Given the description of an element on the screen output the (x, y) to click on. 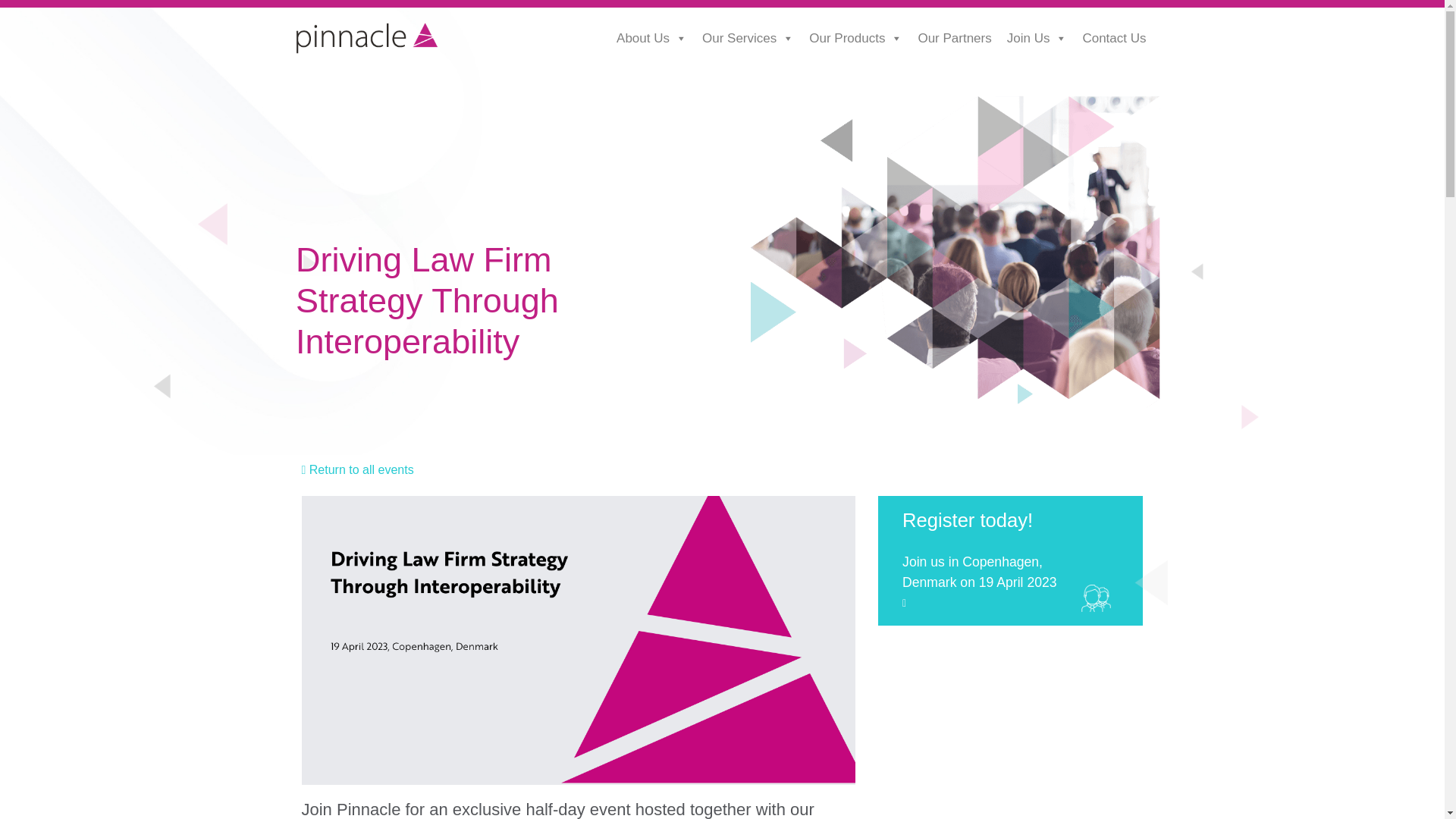
Our Services (748, 38)
About Us (651, 38)
Our Products (856, 38)
